Given the description of an element on the screen output the (x, y) to click on. 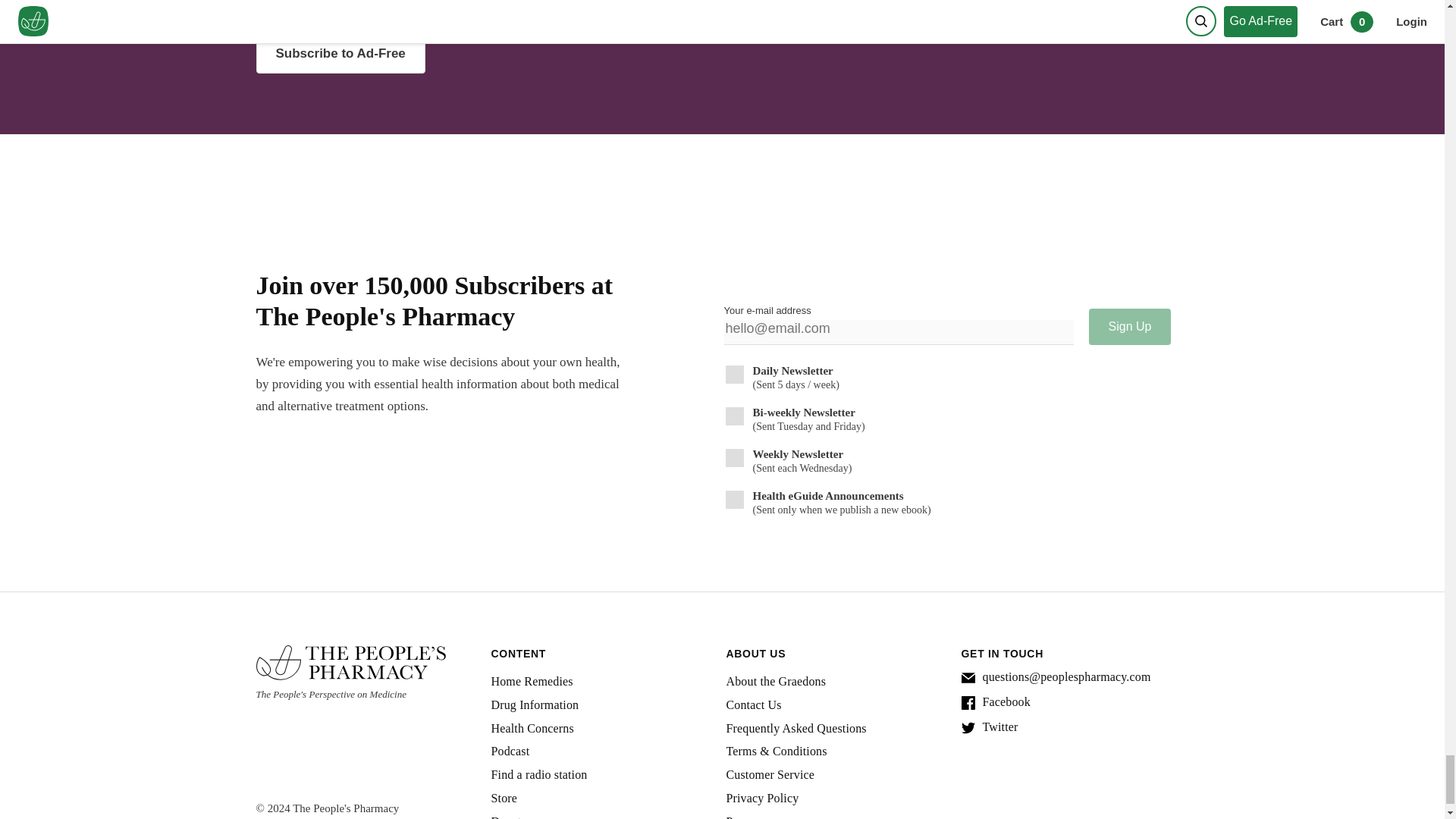
Subscribe to Ad-Free (481, 53)
Subscribe to Ad-Free (340, 53)
Sign Up (1130, 326)
